Given the description of an element on the screen output the (x, y) to click on. 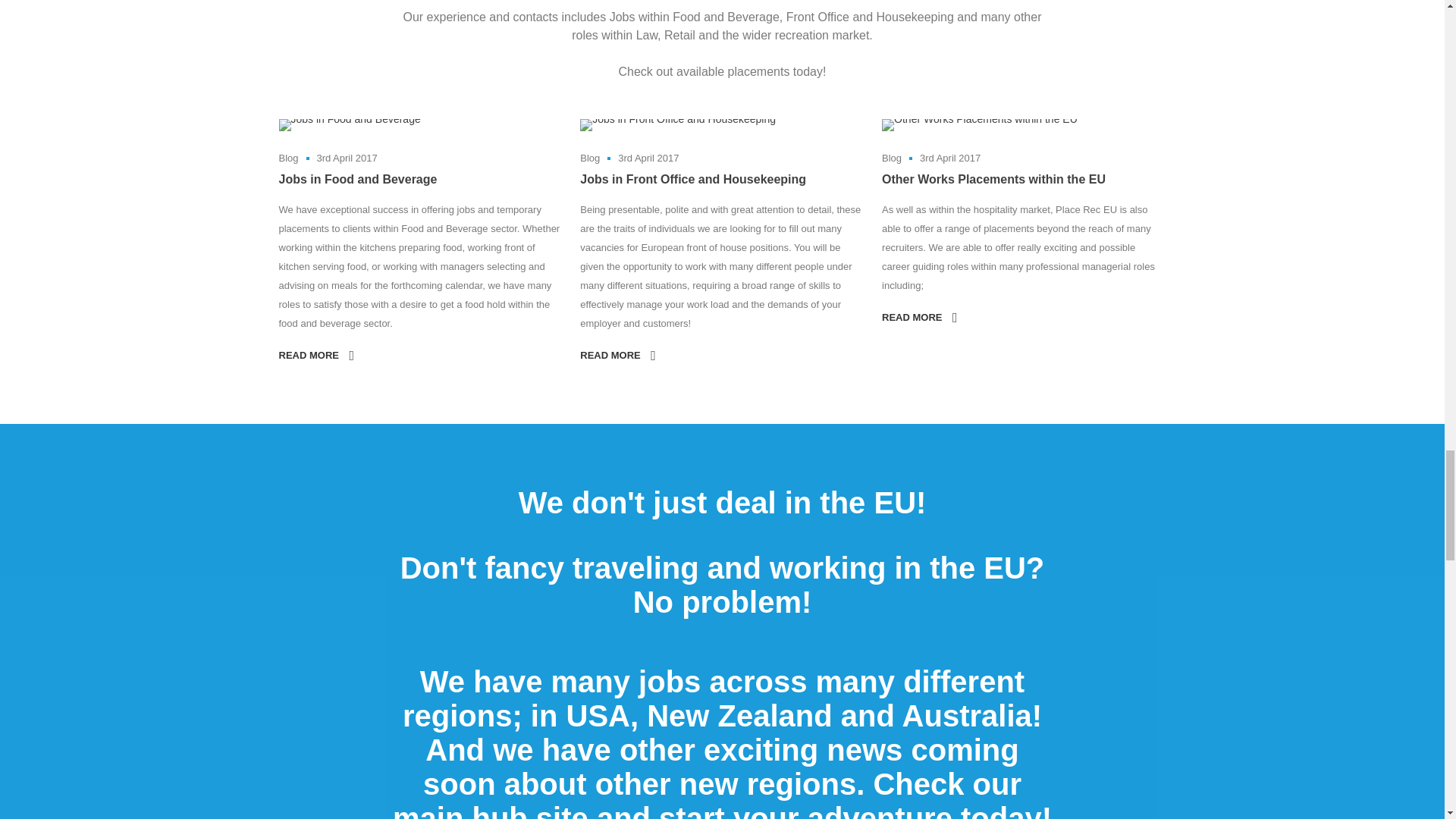
Jobs in Food and Beverage (358, 178)
Other Works Placements within the EU (993, 178)
Other Works Placements within the EU (979, 124)
Jobs in Front Office and Housekeeping (692, 178)
READ MORE (617, 355)
READ MORE (316, 355)
READ MORE (919, 317)
Blog (589, 157)
available placements today (749, 71)
Jobs in Food and Beverage (349, 124)
Blog (288, 157)
Jobs in Front Office and Housekeeping (677, 124)
Blog (891, 157)
